Given the description of an element on the screen output the (x, y) to click on. 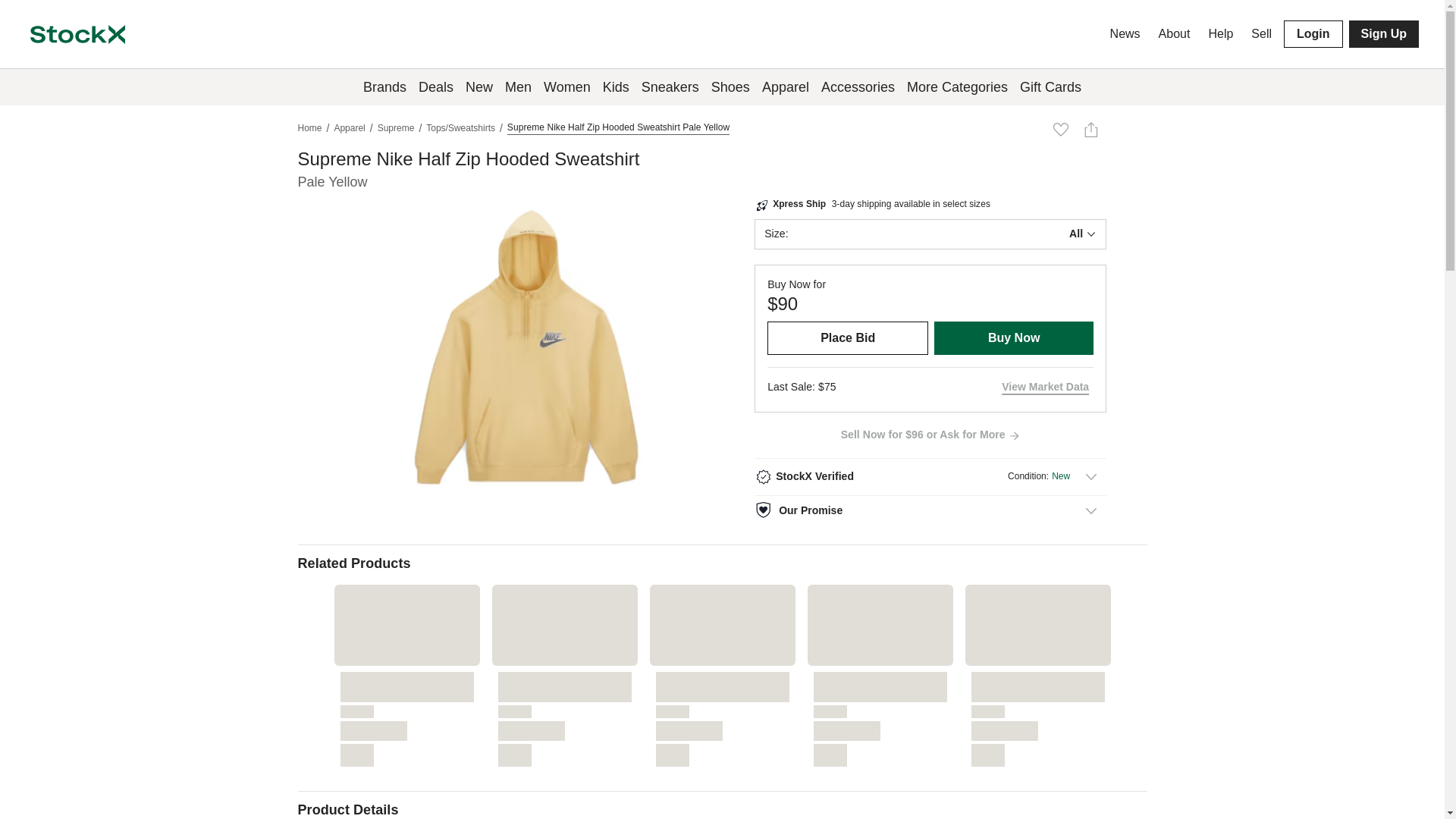
StockX Logo (77, 34)
StockX Logo (77, 33)
Help (1220, 33)
News (1125, 33)
About (1174, 33)
Sell (1261, 33)
StockX Logo (77, 34)
Sign Up (1383, 33)
Login (1313, 33)
